Given the description of an element on the screen output the (x, y) to click on. 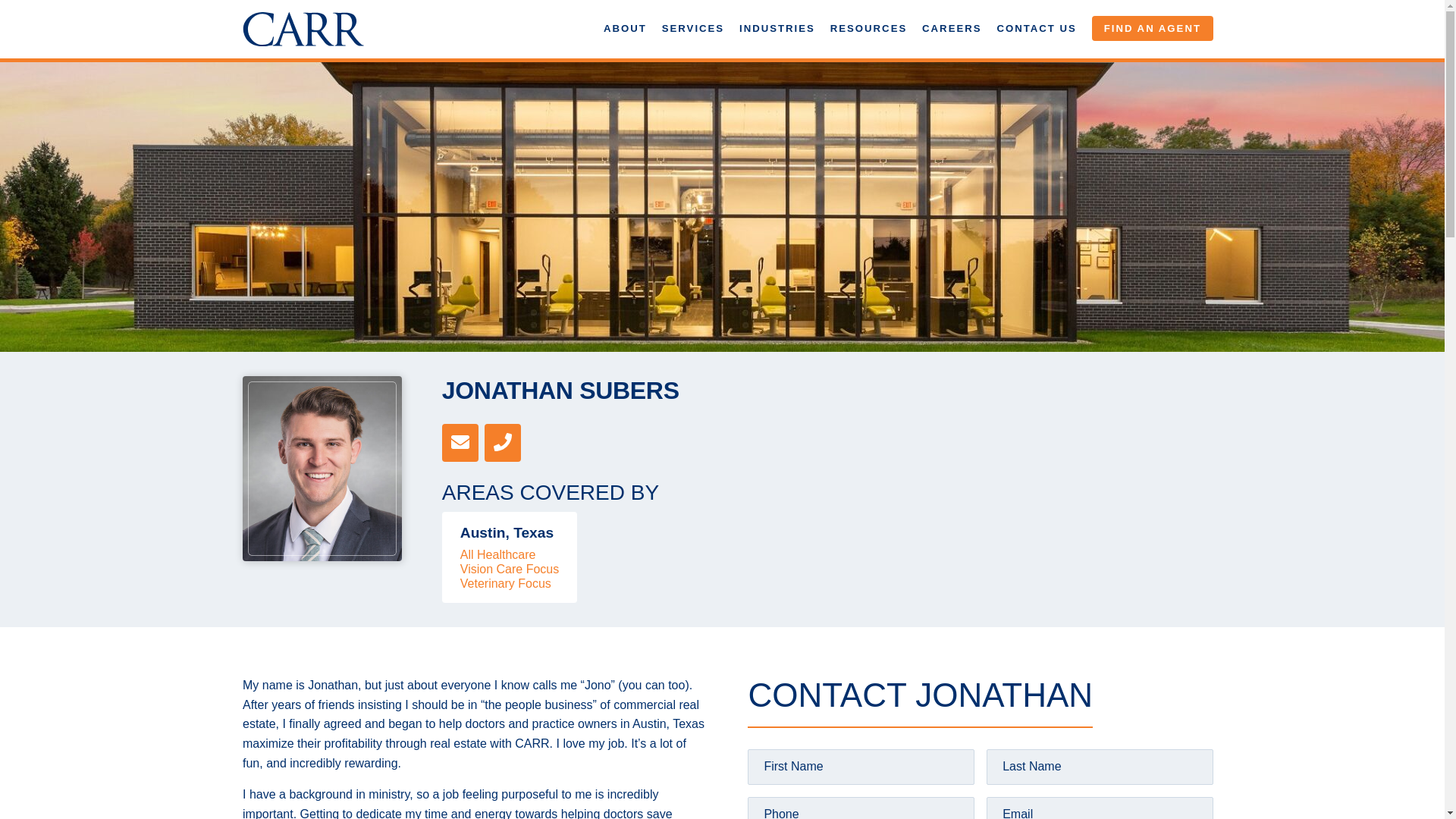
CARR Home Page (303, 29)
